Given the description of an element on the screen output the (x, y) to click on. 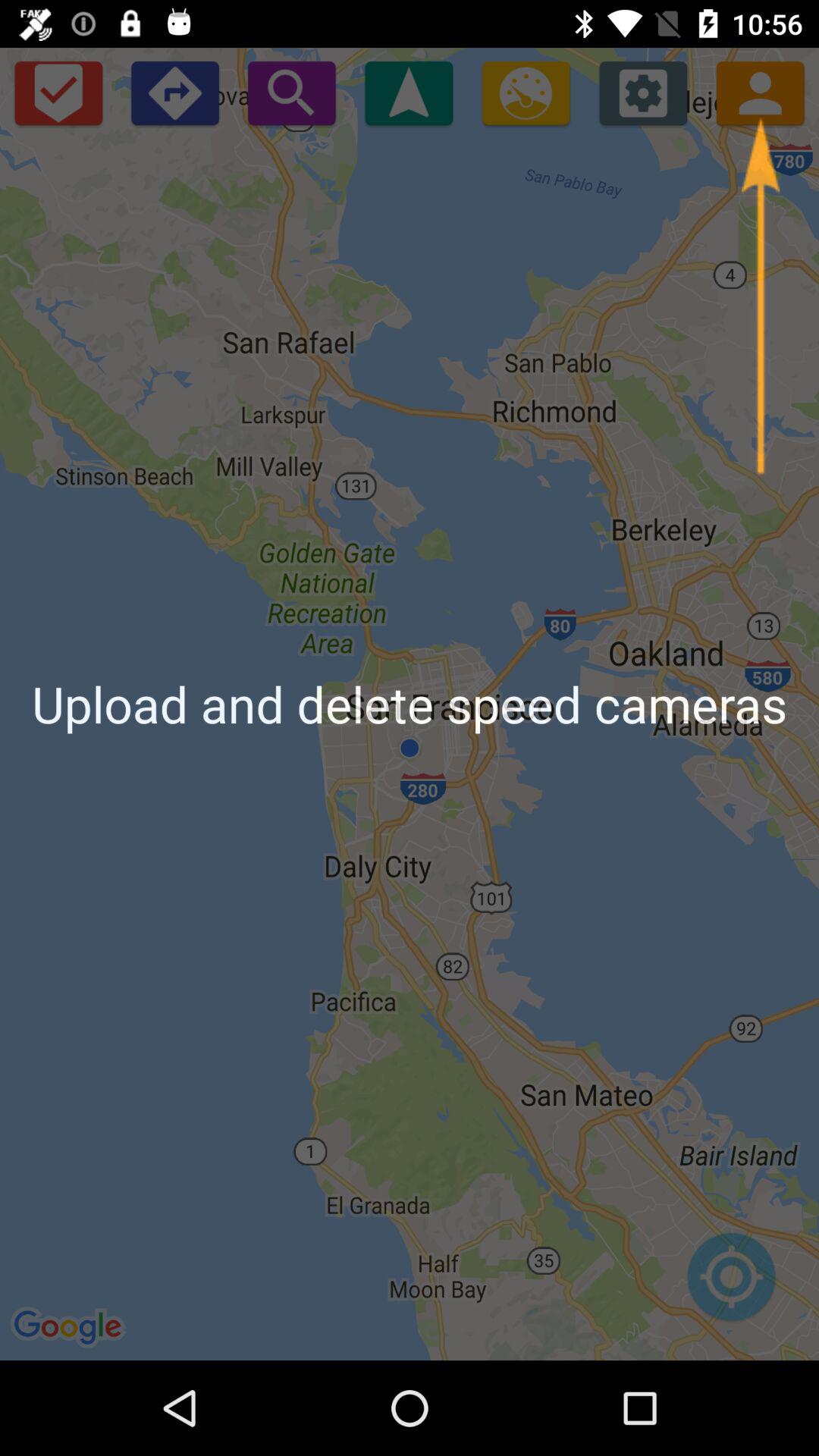
open account tab (760, 92)
